Given the description of an element on the screen output the (x, y) to click on. 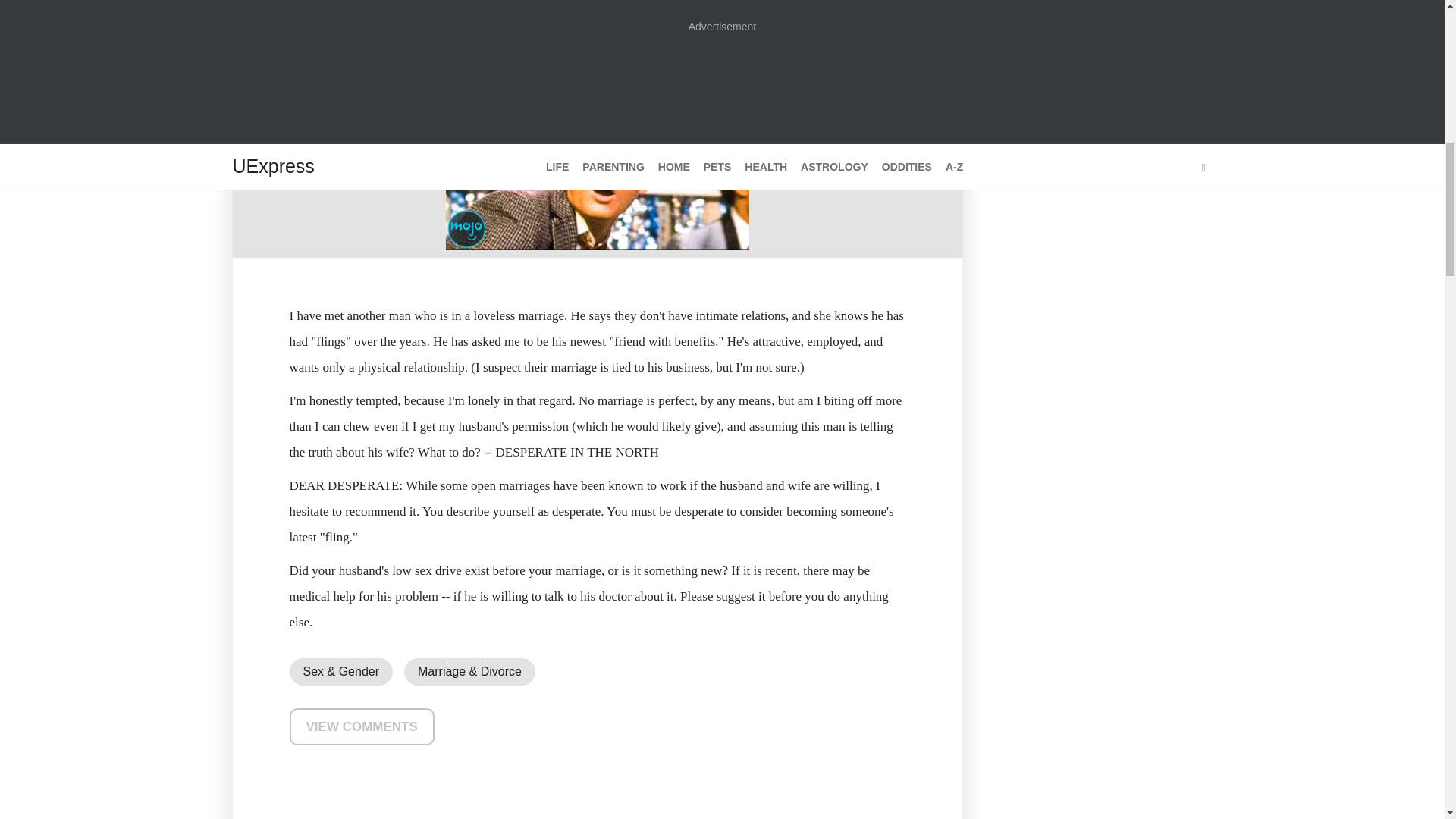
VIEW COMMENTS (361, 727)
